Given the description of an element on the screen output the (x, y) to click on. 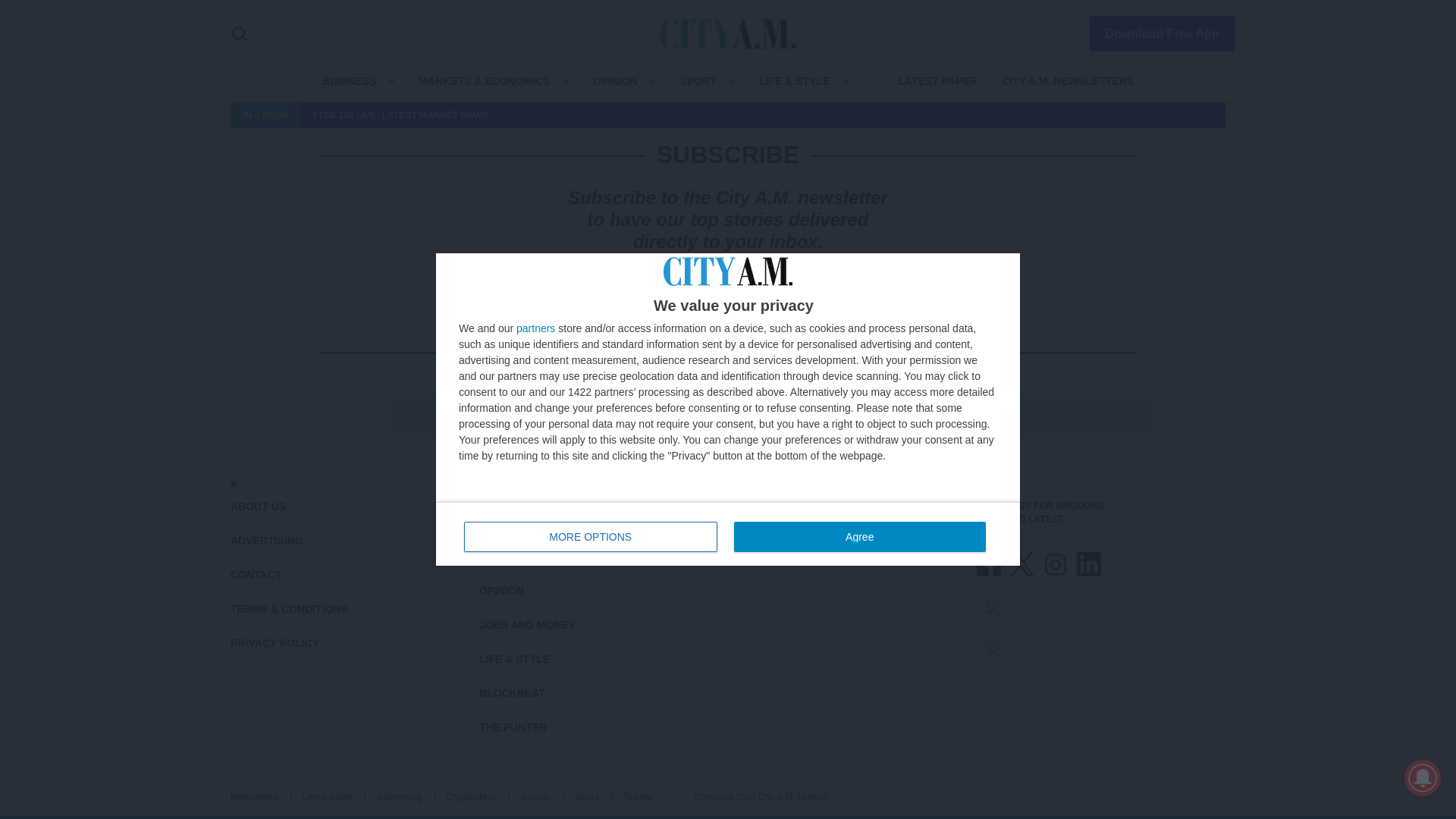
X (1021, 564)
LINKEDIN (1088, 564)
INSTAGRAM (1055, 564)
FACEBOOK (988, 564)
